Given the description of an element on the screen output the (x, y) to click on. 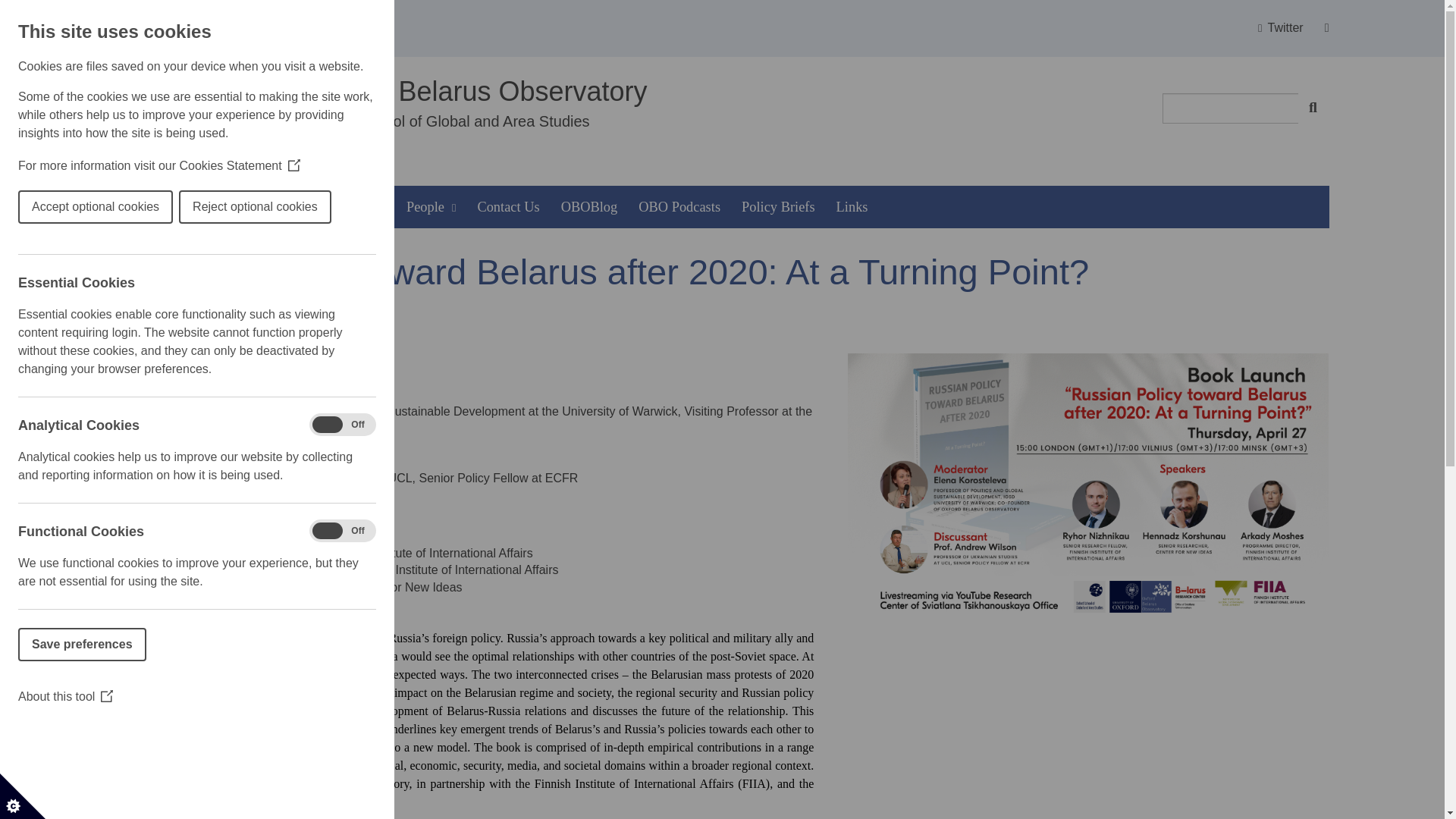
Oxford Belarus Observatory (477, 91)
Contact Us (507, 206)
People (430, 206)
OBO Podcasts (678, 206)
OBOBlog (589, 206)
Home (142, 206)
Twitter (1280, 28)
Apr27 (1087, 488)
Links (852, 206)
Reject optional cookies (48, 206)
About Us (208, 206)
Enter the terms you wish to search for (1229, 108)
OBO on Twitter (1280, 28)
Events (366, 206)
Policy Briefs (777, 206)
